Given the description of an element on the screen output the (x, y) to click on. 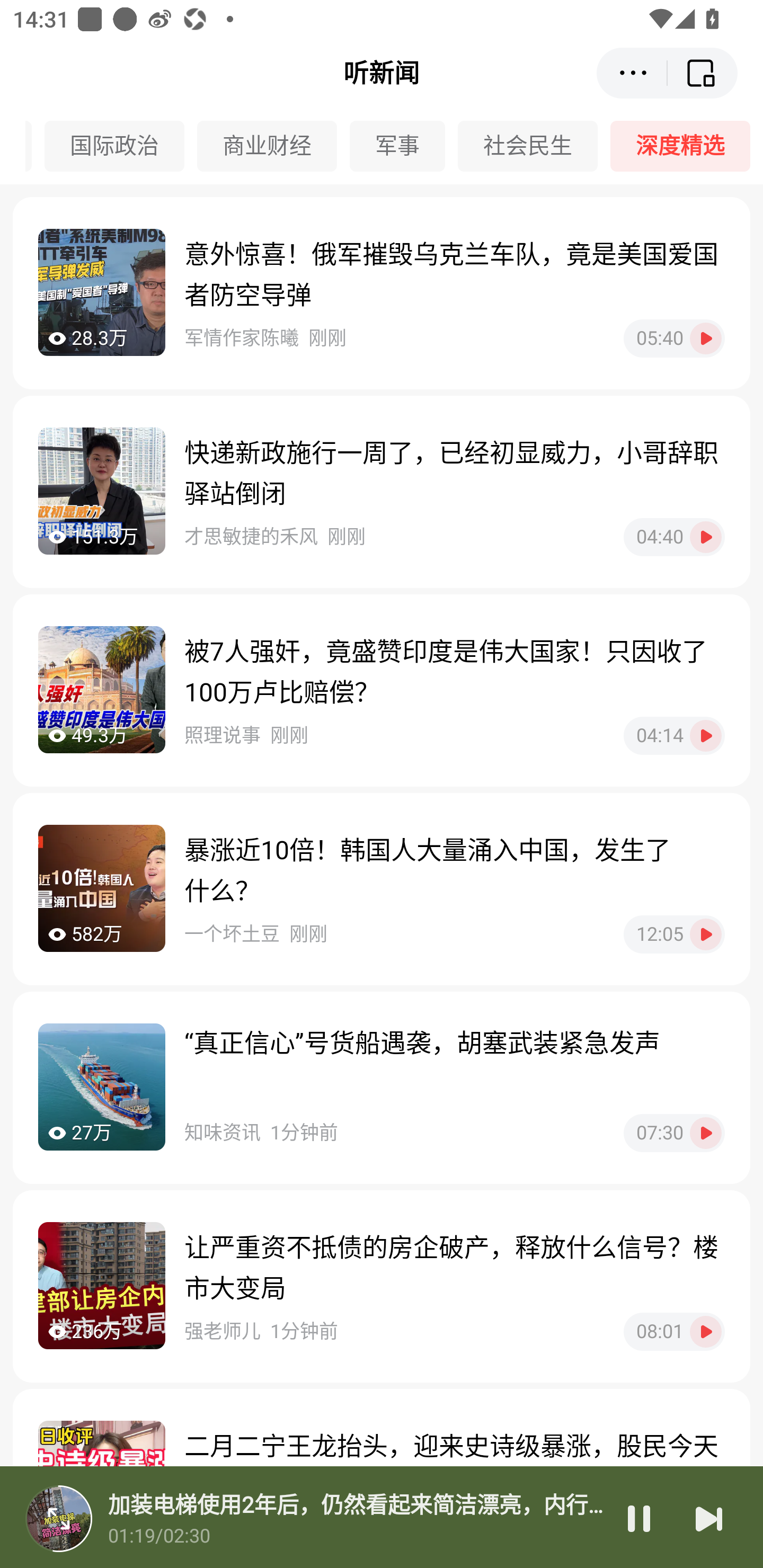
更多 (631, 72)
返回 (702, 72)
国际政治 (120, 146)
商业财经 (272, 146)
军事 (403, 146)
社会民生 (533, 146)
深度精选 (686, 146)
28.3万 意外惊喜！俄军摧毁乌克兰车队，竟是美国爱国者防空导弹 军情作家陈曦刚刚 05:40 (381, 292)
05:40 (673, 338)
151.3万 快递新政施行一周了，已经初显威力，小哥辞职驿站倒闭 才思敏捷的禾风刚刚 04:40 (381, 491)
04:40 (673, 536)
49.3万 被7人强奸，竟盛赞印度是伟大国家！只因收了100万卢比赔偿？ 照理说事刚刚 04:14 (381, 690)
04:14 (673, 735)
582万 暴涨近10倍！韩国人大量涌入中国，发生了
什么？ 一个坏土豆刚刚 12:05 (381, 888)
12:05 (673, 934)
27万 “真正信心”号货船遇袭，胡塞武装紧急发声 知味资讯1分钟前 07:30 (381, 1086)
07:30 (673, 1132)
236万 让严重资不抵债的房企破产，释放什么信号？楼市大变局 强老师儿1分钟前 08:01 (381, 1286)
08:01 (673, 1331)
13.7万 二月二宁王龙抬头，迎来史诗级暴涨，股民今天爽歪歪 招财吴悠1分钟前 03:25 (381, 1478)
暂停 (638, 1518)
下一篇 (708, 1518)
